Given the description of an element on the screen output the (x, y) to click on. 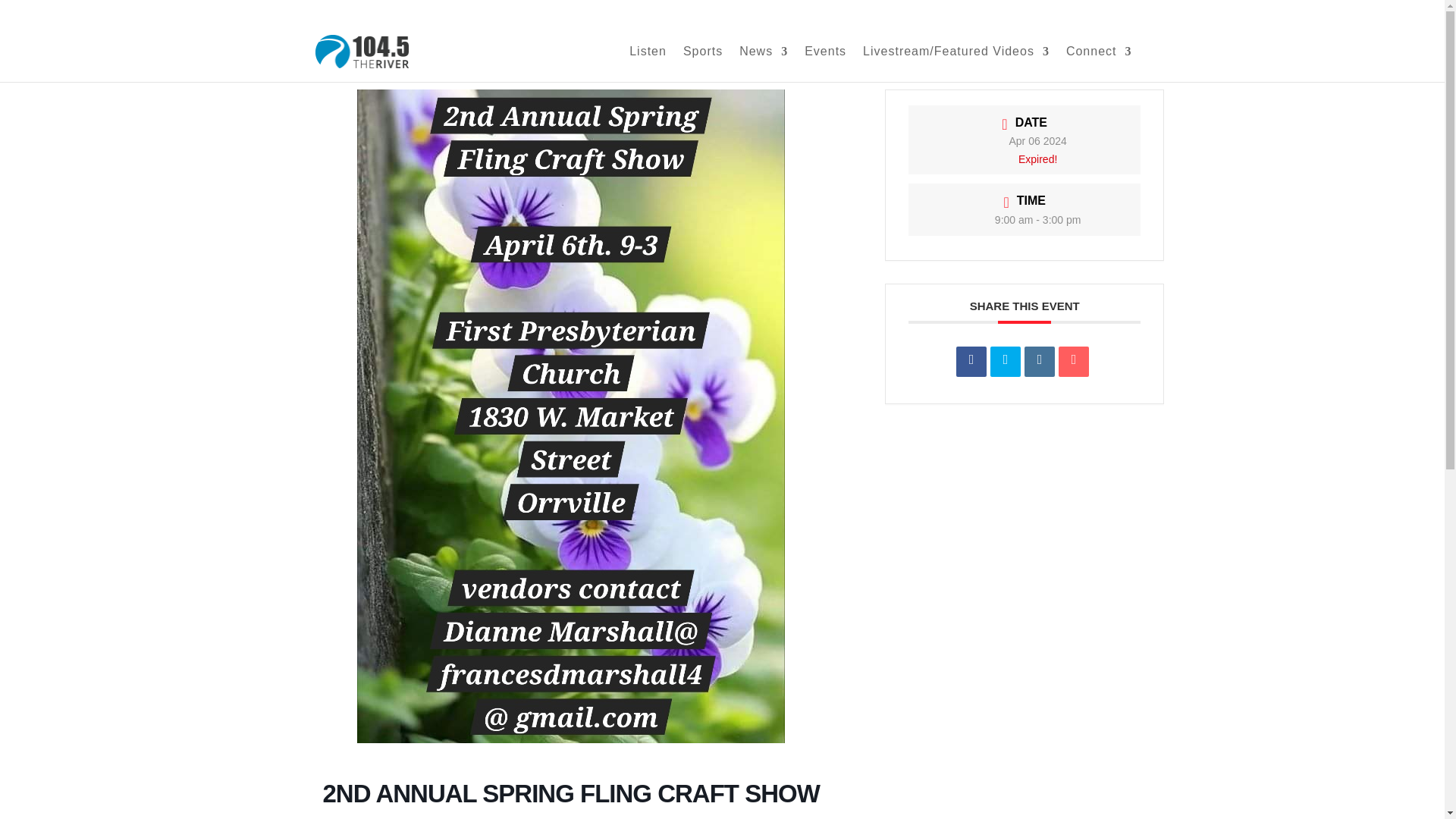
Events (825, 63)
Listen (647, 63)
Linkedin (1039, 361)
Email (1073, 361)
Sports (702, 63)
Connect (1098, 63)
News (763, 63)
Share on Facebook (971, 361)
Tweet (1005, 361)
